Given the description of an element on the screen output the (x, y) to click on. 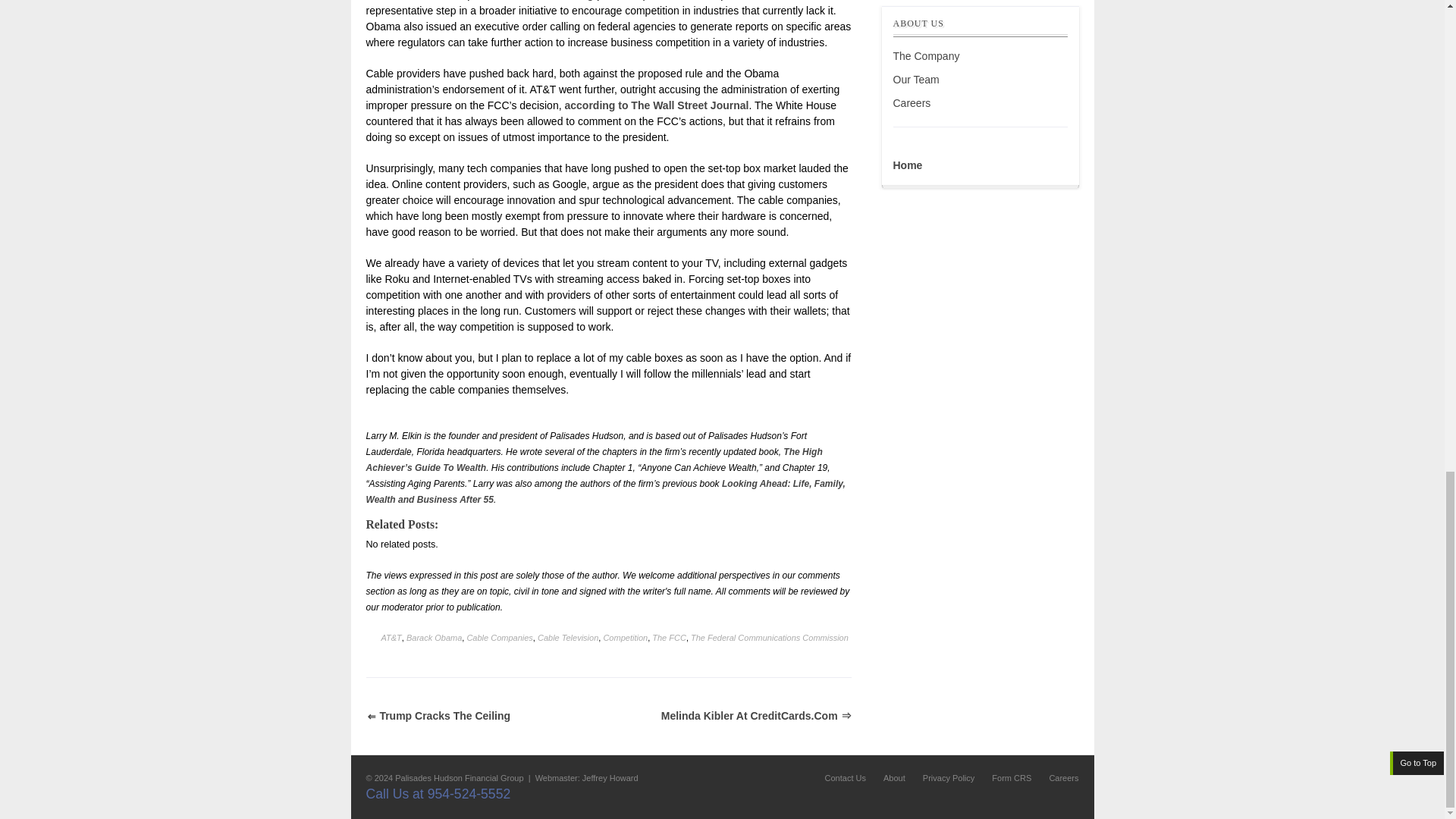
The FCC (668, 637)
Competition (624, 637)
Cable Television (567, 637)
Looking Ahead: Life, Family, Wealth and Business After 55 (604, 491)
Cable Companies (498, 637)
a blog post (591, 0)
Barack Obama (433, 637)
The Federal Communications Commission (769, 637)
according to The Wall Street Journal (656, 105)
